Given the description of an element on the screen output the (x, y) to click on. 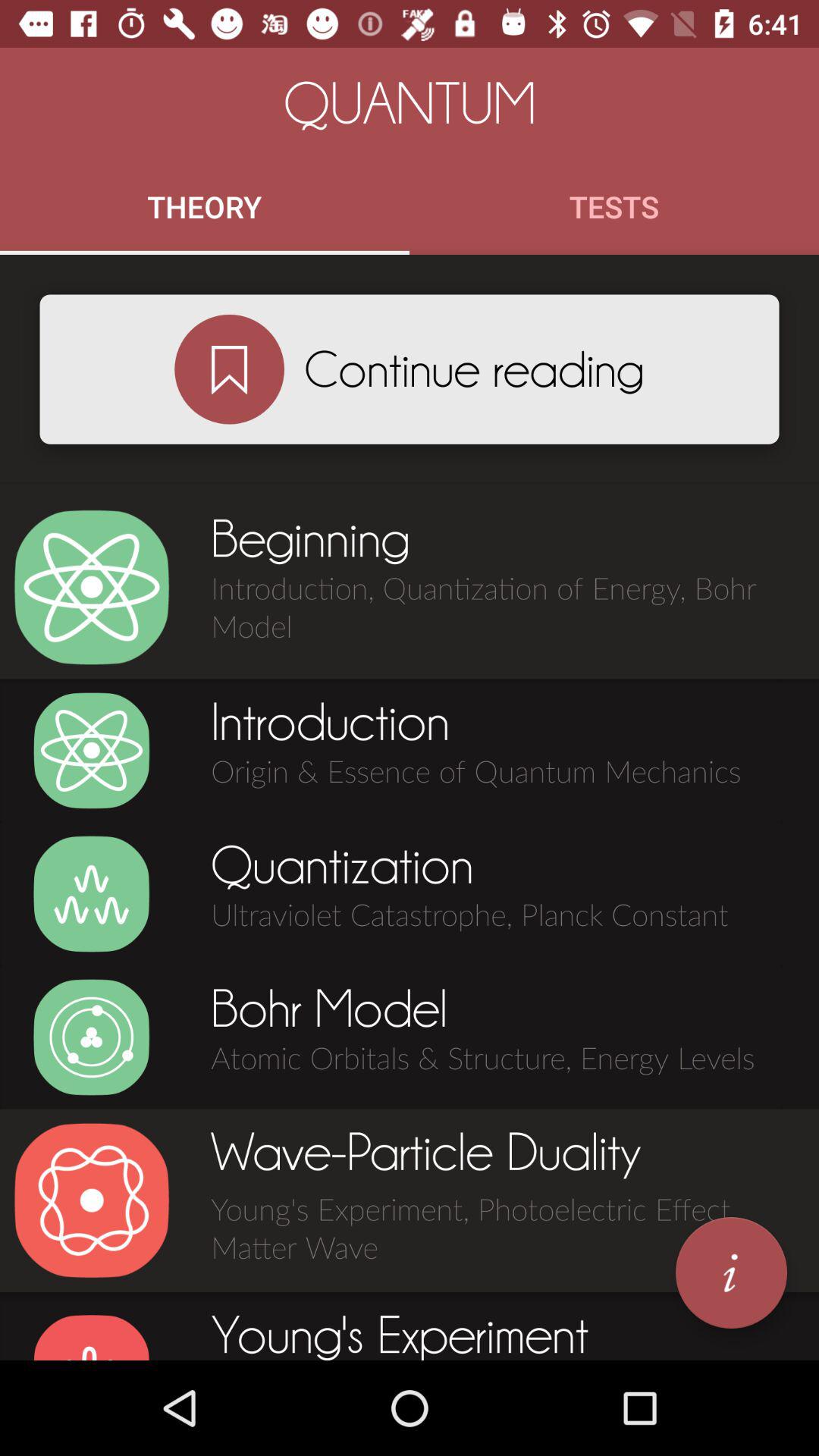
turn off the item below atomic orbitals structure icon (731, 1272)
